Given the description of an element on the screen output the (x, y) to click on. 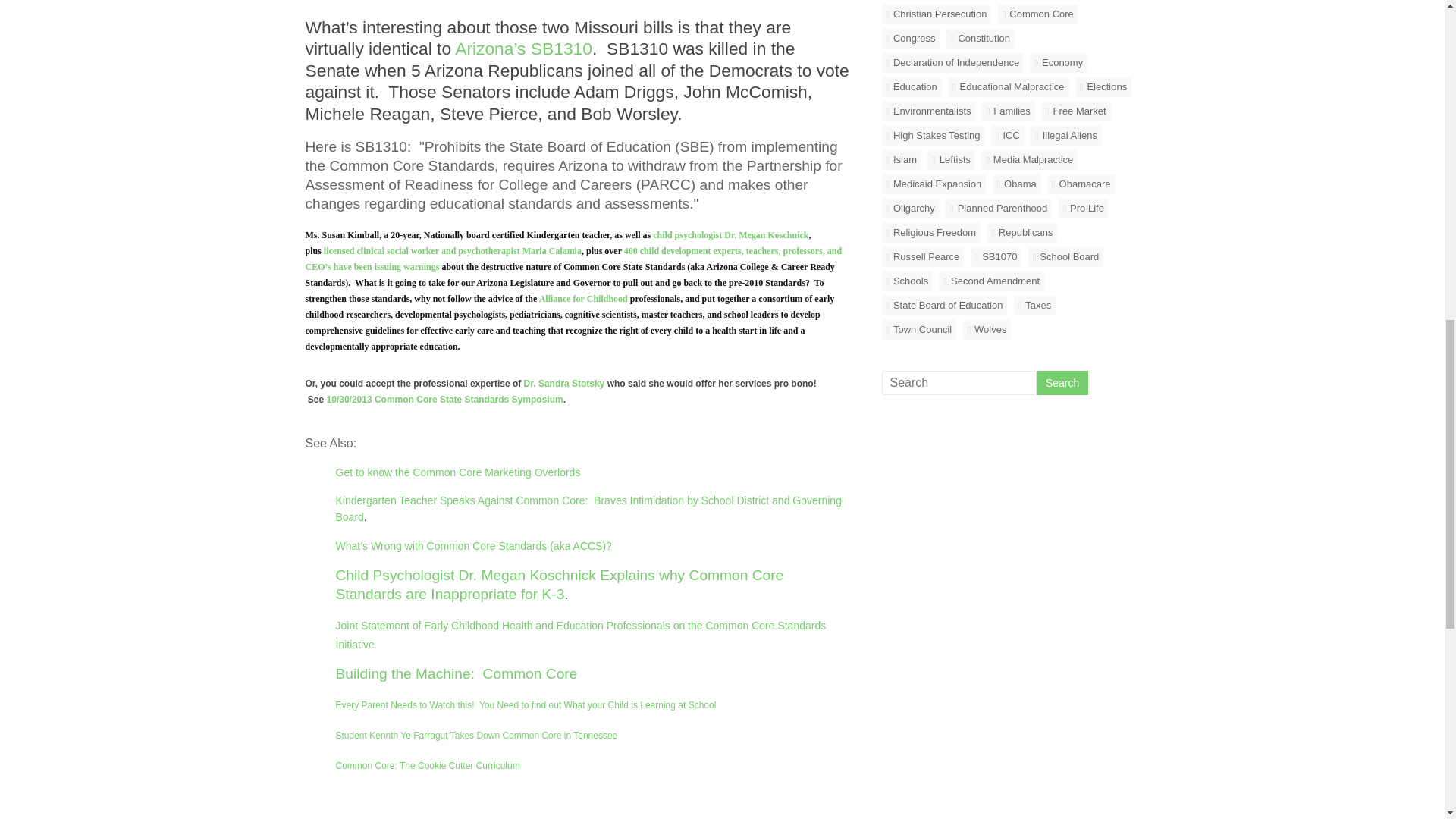
child psychologist Dr. Megan Koschnick (730, 235)
Building the Machine:  Common Core (455, 673)
Alliance for Childhood (582, 298)
Dr. Sandra Stotsky (564, 383)
Common Core: The Cookie Cutter Curriculum (426, 765)
